Given the description of an element on the screen output the (x, y) to click on. 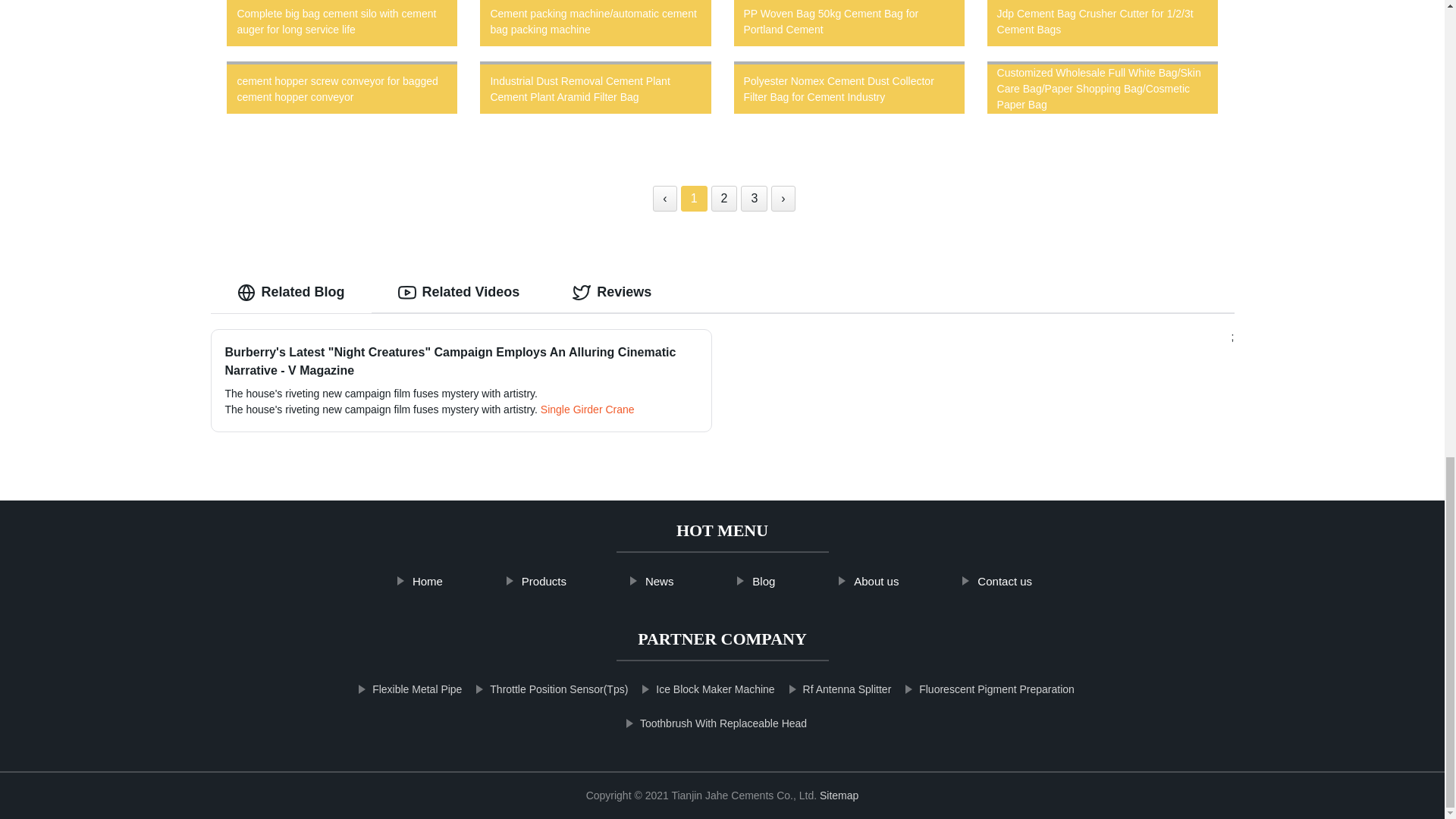
PP Woven Bag 50kg Cement Bag for Portland Cement (848, 27)
